Given the description of an element on the screen output the (x, y) to click on. 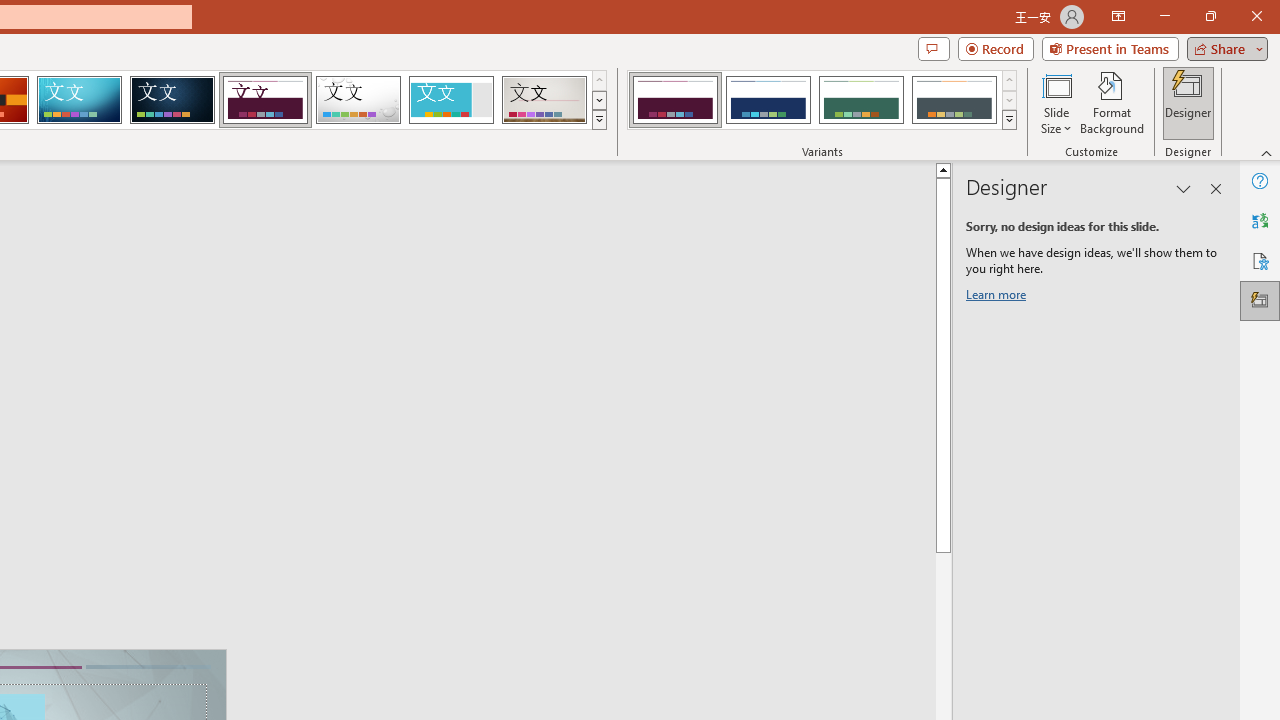
Minimize (1164, 16)
Dividend Variant 1 (674, 100)
Learn more (998, 297)
Close pane (1215, 188)
Designer (1260, 300)
Slide Size (1056, 102)
Damask (171, 100)
Help (1260, 180)
AutomationID: ThemeVariantsGallery (822, 99)
Translator (1260, 220)
Droplet (358, 100)
Dividend Variant 2 (768, 100)
Collapse the Ribbon (1267, 152)
Task Pane Options (1183, 188)
Restore Down (1210, 16)
